Given the description of an element on the screen output the (x, y) to click on. 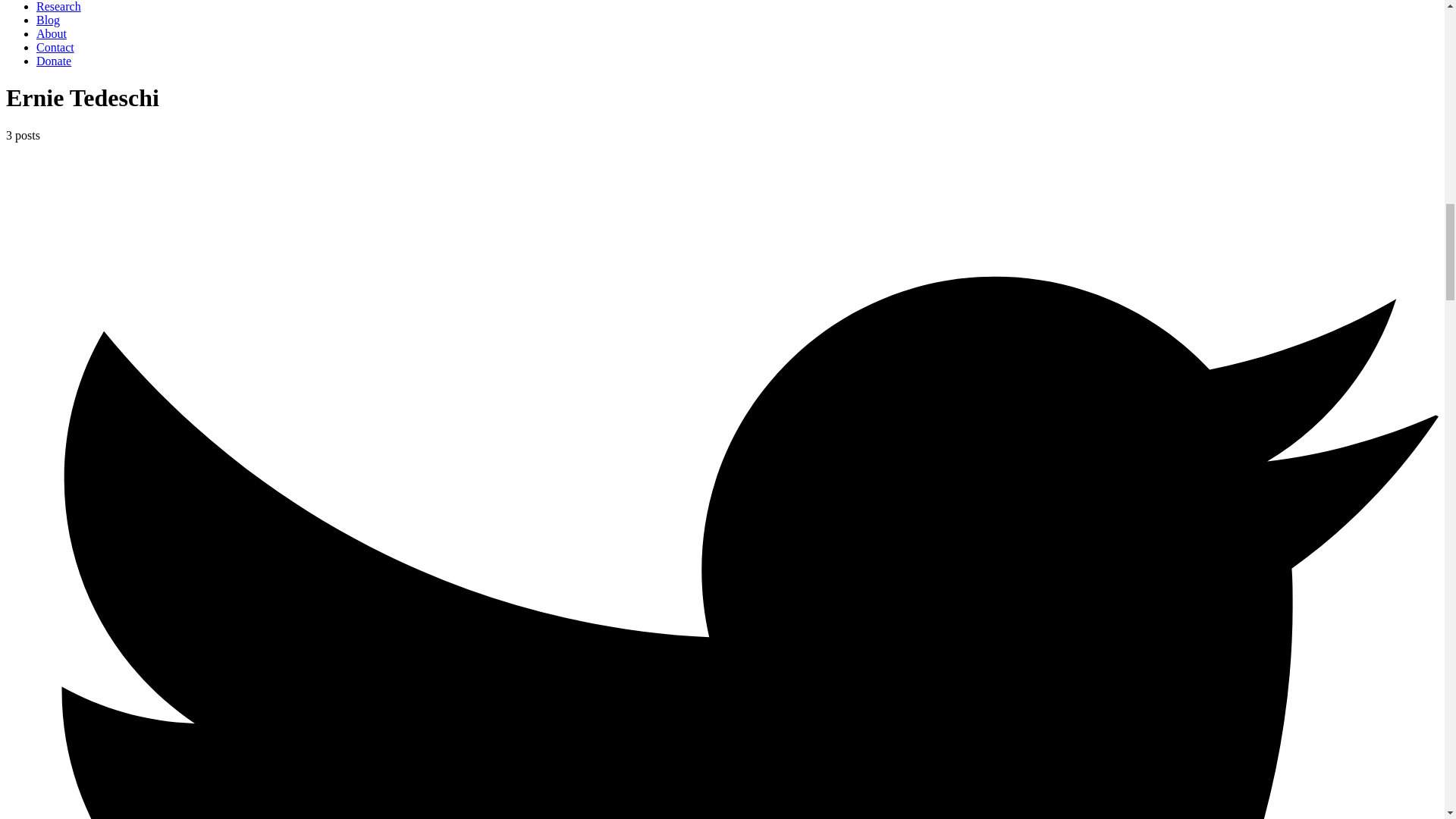
Research (58, 6)
Donate (53, 60)
Contact (55, 47)
Blog (47, 19)
About (51, 33)
